Given the description of an element on the screen output the (x, y) to click on. 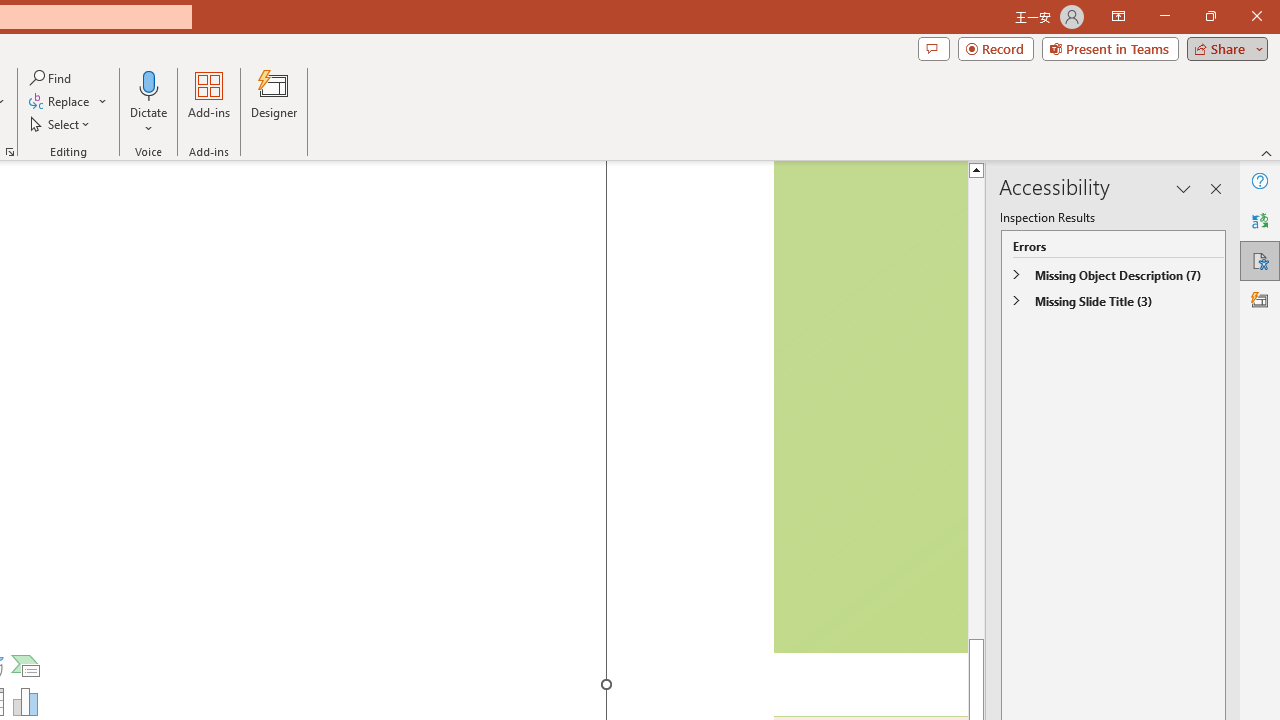
Page up (976, 408)
Replace... (60, 101)
Insert Chart (26, 701)
Close pane (1215, 188)
Replace... (68, 101)
Translator (1260, 220)
Camera 5, No camera detected. (869, 407)
Designer (274, 102)
Find... (51, 78)
